Given the description of an element on the screen output the (x, y) to click on. 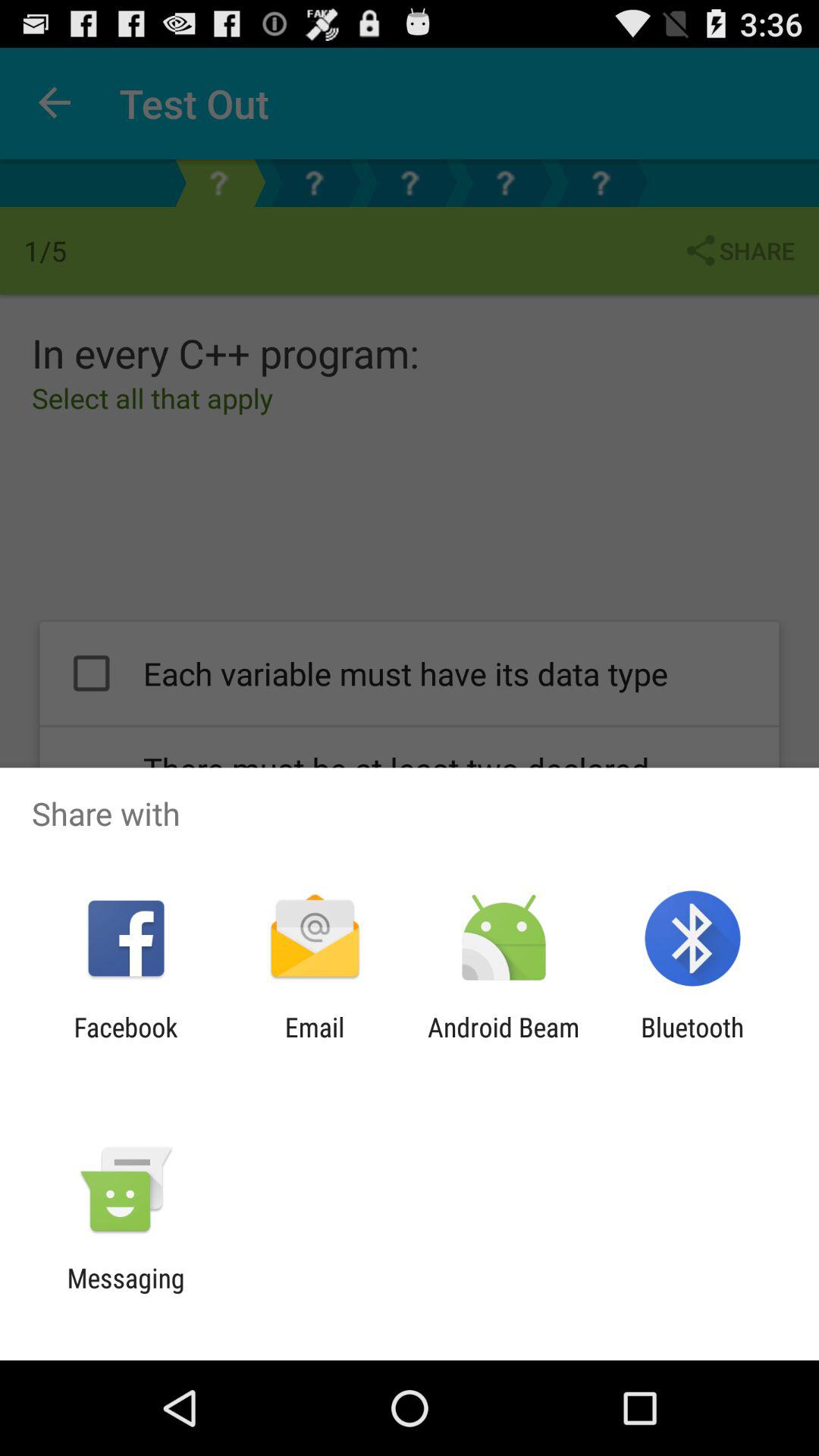
turn on the icon next to android beam item (691, 1042)
